Given the description of an element on the screen output the (x, y) to click on. 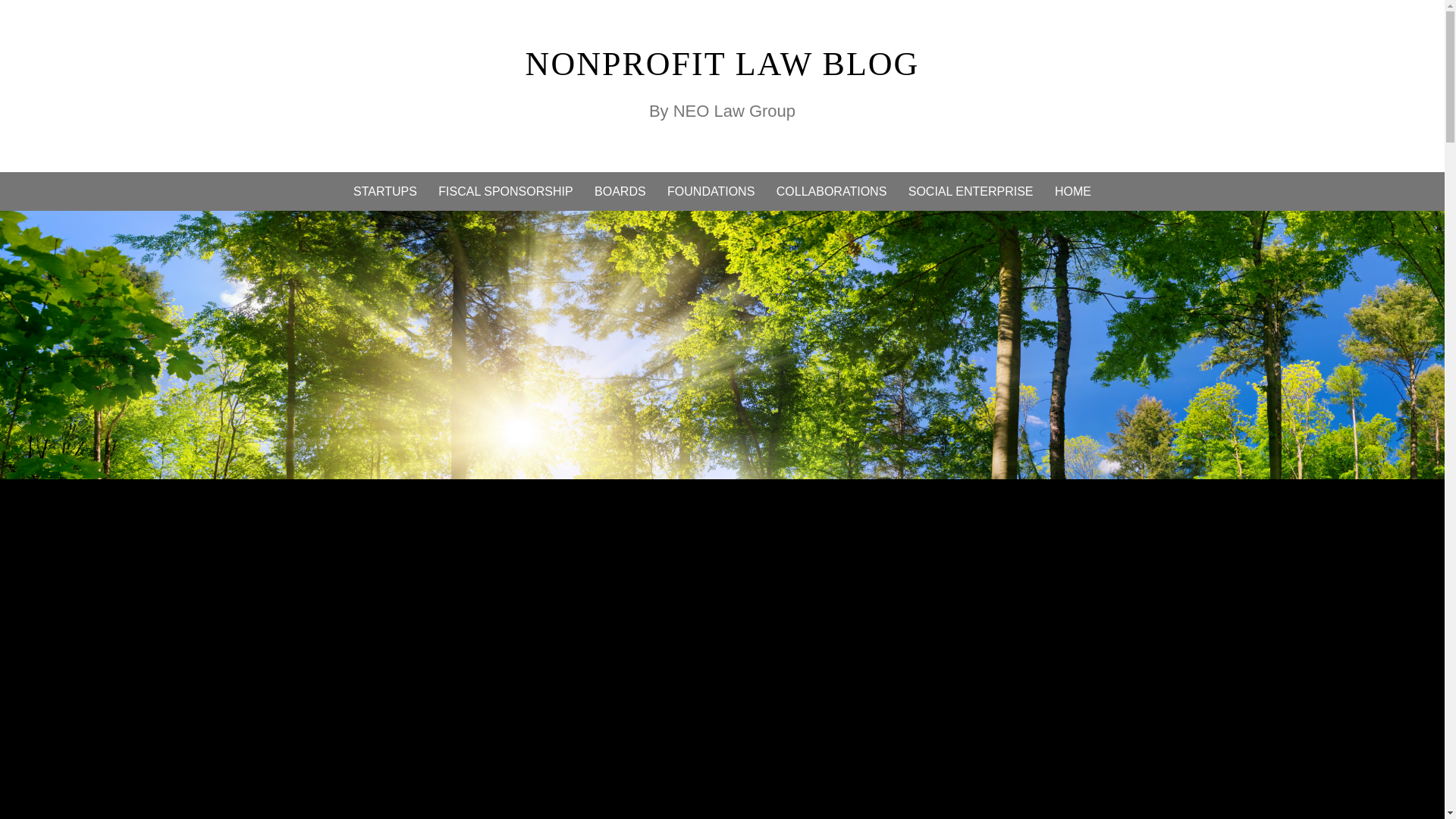
FOUNDATIONS (710, 190)
Nonprofit Law Blog By NEO Law Group (722, 63)
STARTUPS (384, 190)
SOCIAL ENTERPRISE (970, 190)
BOARDS (620, 190)
NONPROFIT LAW BLOG (722, 63)
FISCAL SPONSORSHIP (504, 190)
HOME (1072, 190)
COLLABORATIONS (831, 190)
